Given the description of an element on the screen output the (x, y) to click on. 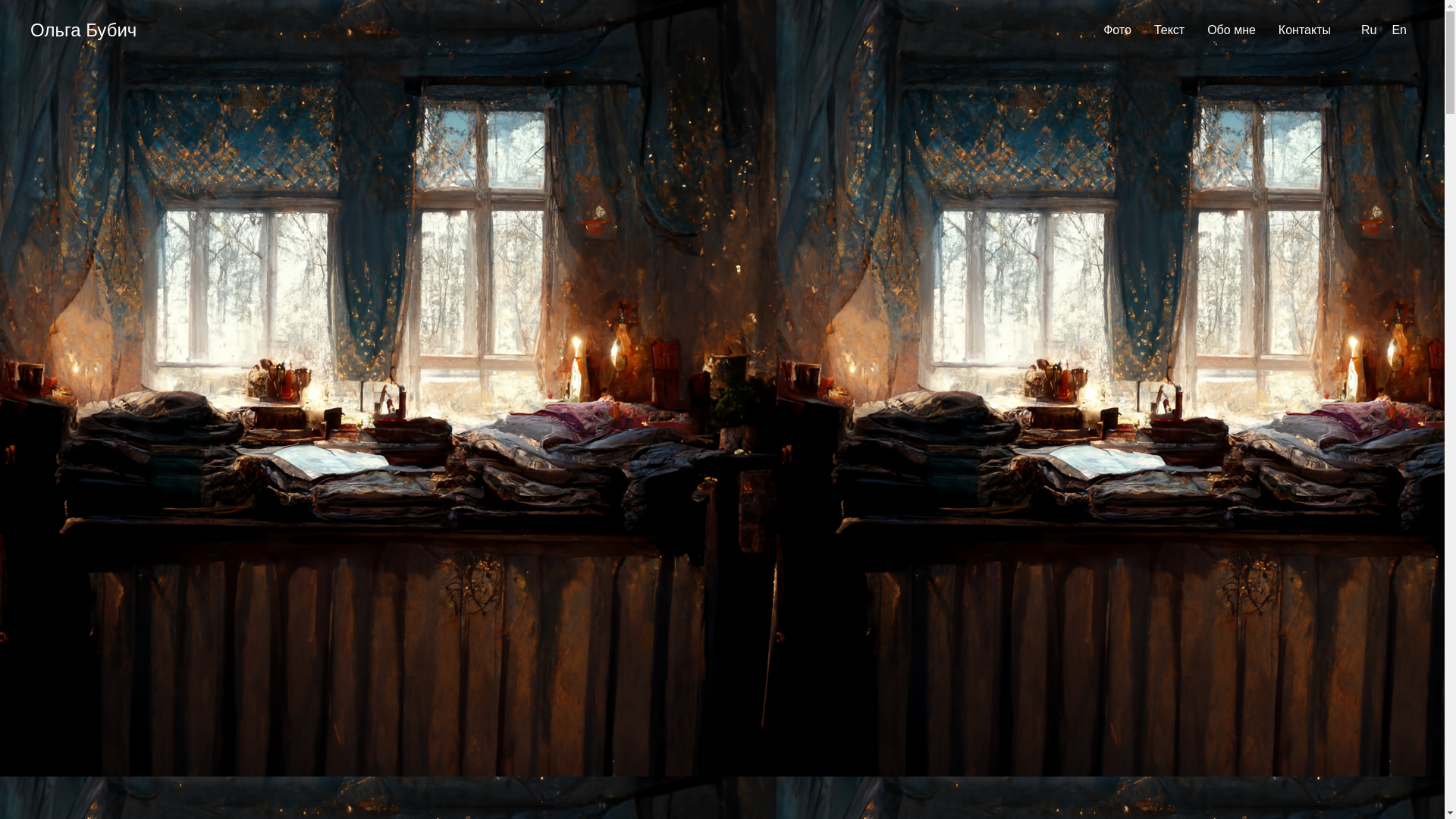
Ru Element type: text (1368, 29)
En Element type: text (1398, 29)
